Given the description of an element on the screen output the (x, y) to click on. 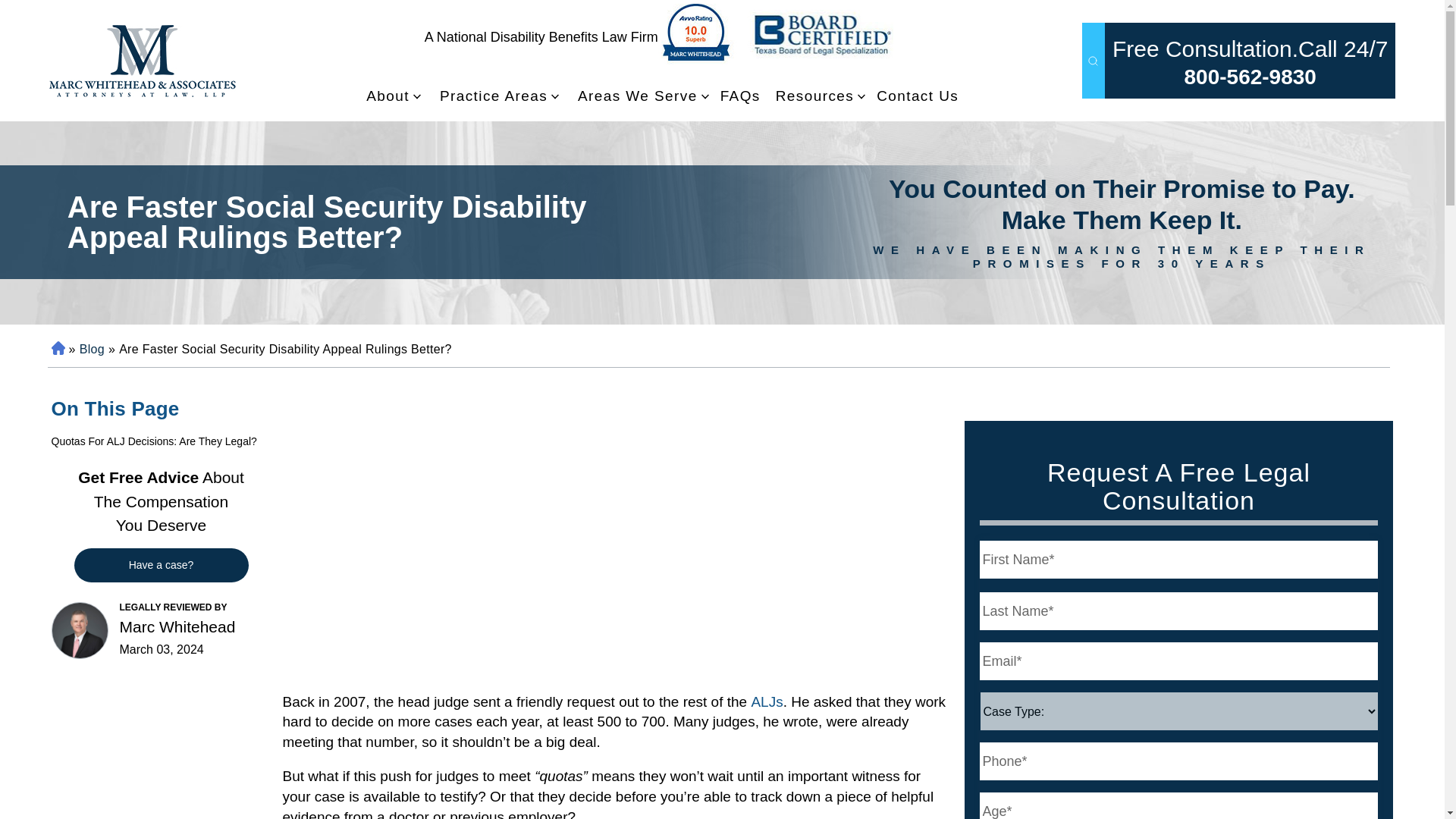
About (387, 95)
Areas We Serve (637, 95)
Marc Whitehead (78, 630)
Disability Denials (141, 61)
Have a case? (161, 564)
Quotas For ALJ Decisions: Are They Legal? (160, 440)
Practice Areas (493, 95)
Call to Disability Denials (1250, 77)
